Given the description of an element on the screen output the (x, y) to click on. 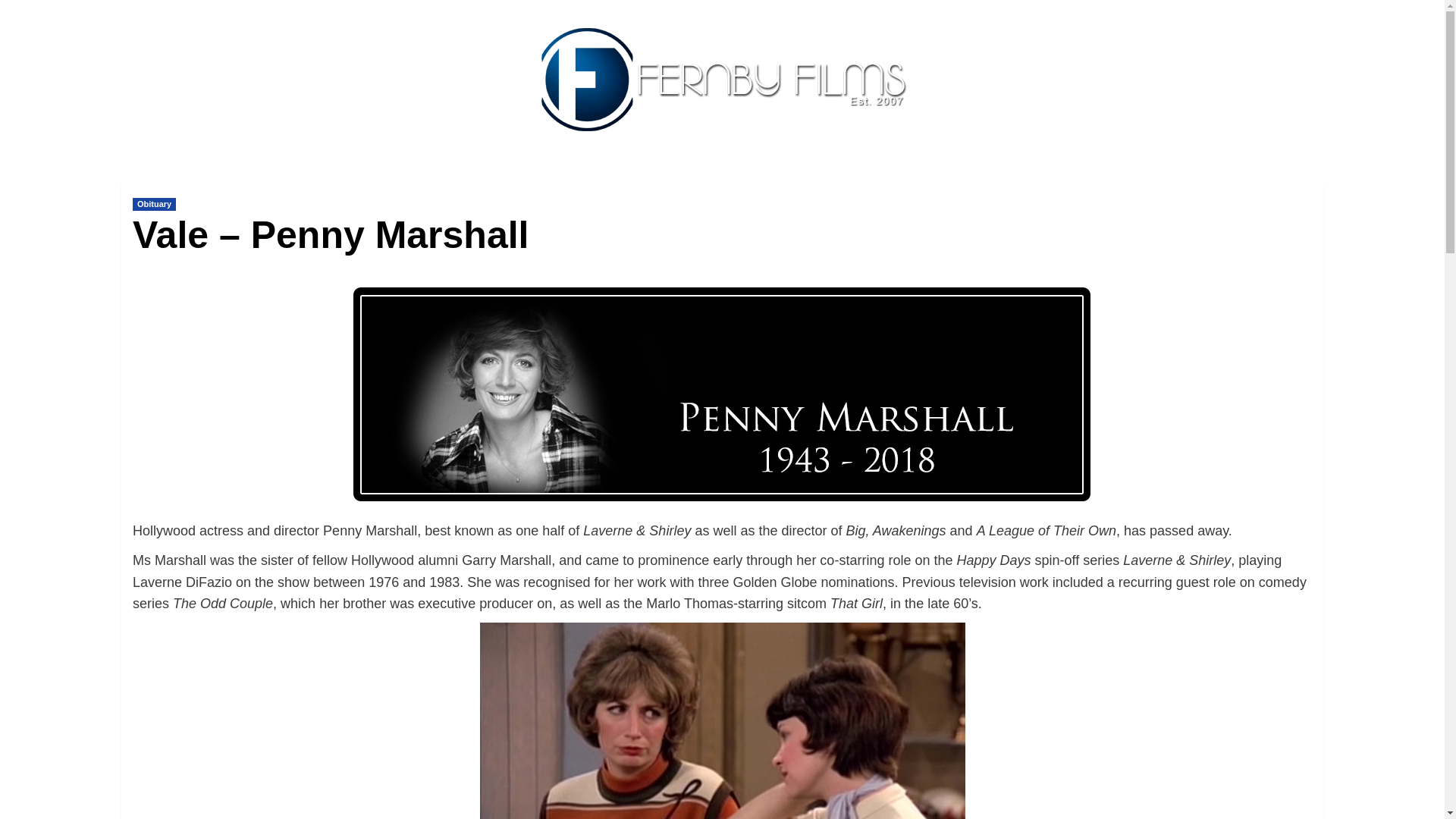
Obituary (154, 204)
Search (1278, 226)
